Given the description of an element on the screen output the (x, y) to click on. 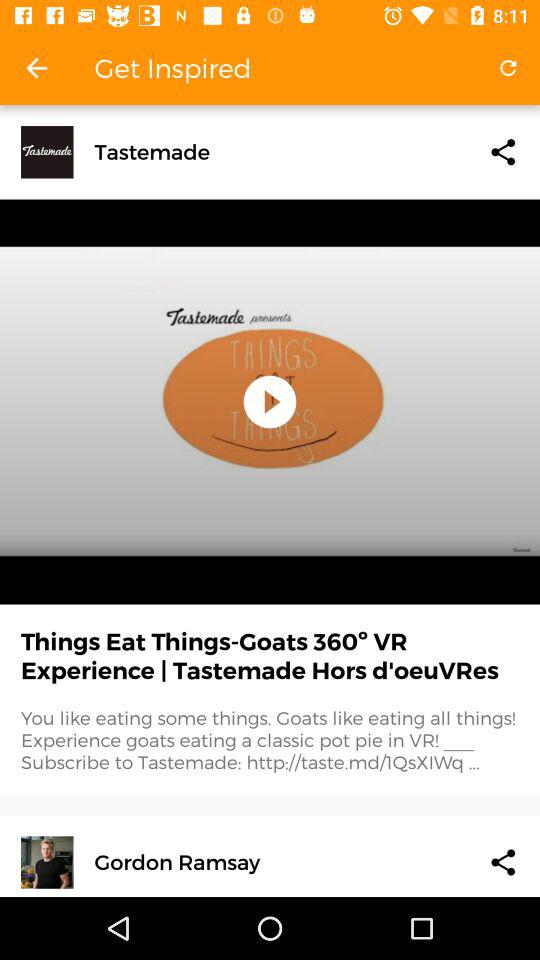
share the article (503, 862)
